Given the description of an element on the screen output the (x, y) to click on. 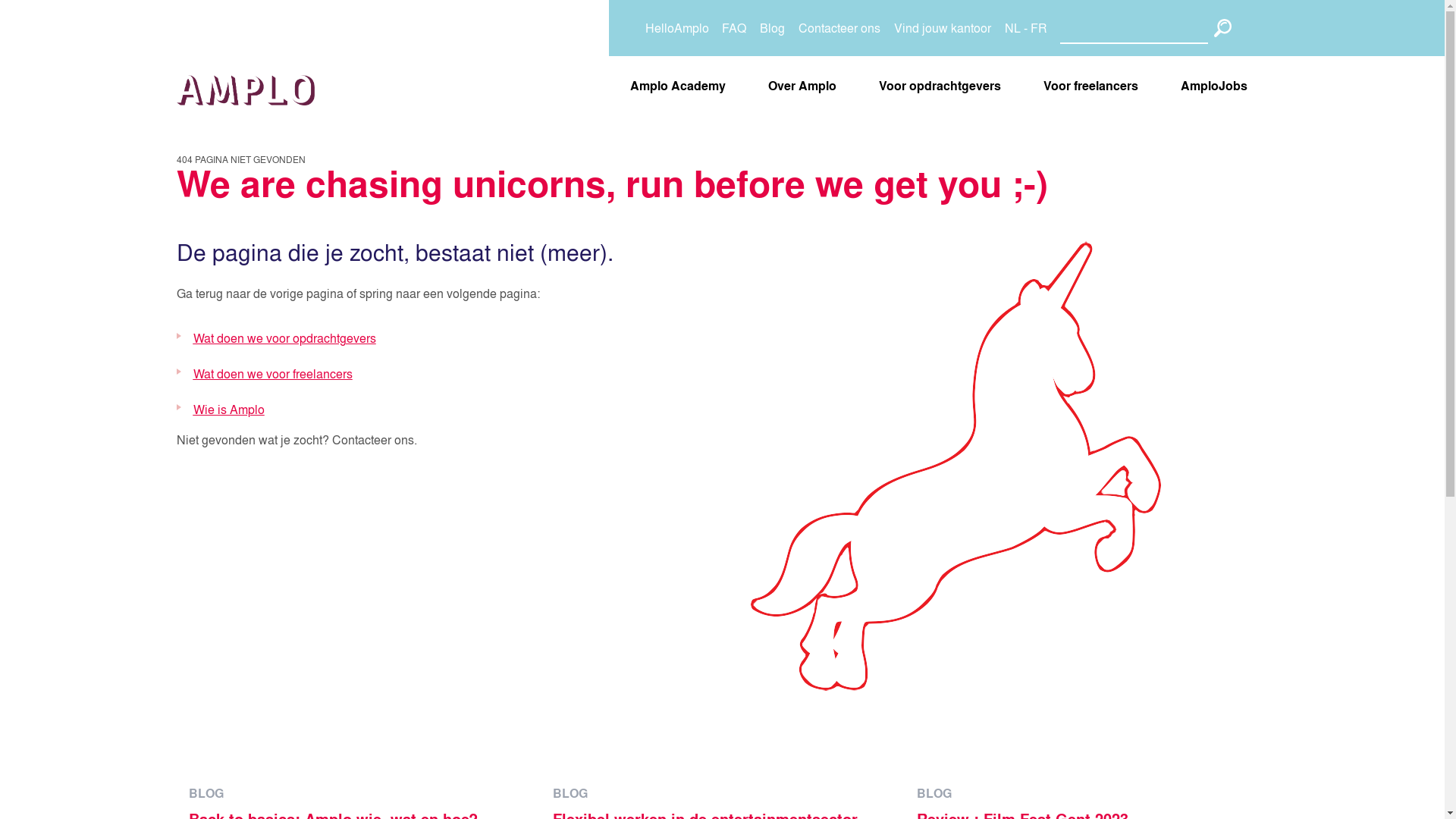
Wat doen we voor opdrachtgevers Element type: text (283, 337)
HelloAmplo Element type: text (676, 27)
AmploJobs Element type: text (1212, 86)
Blog Element type: text (771, 27)
Amplo Academy Element type: text (677, 86)
Voor opdrachtgevers Element type: text (938, 86)
Wie is Amplo Element type: text (227, 409)
Wat doen we voor freelancers Element type: text (271, 373)
Contacteer ons Element type: text (839, 27)
Contacteer ons Element type: text (373, 439)
FR Element type: text (1038, 27)
FAQ Element type: text (733, 27)
Over Amplo Element type: text (801, 86)
Voor freelancers Element type: text (1090, 86)
Vind jouw kantoor Element type: text (942, 27)
NL Element type: text (1012, 27)
